Given the description of an element on the screen output the (x, y) to click on. 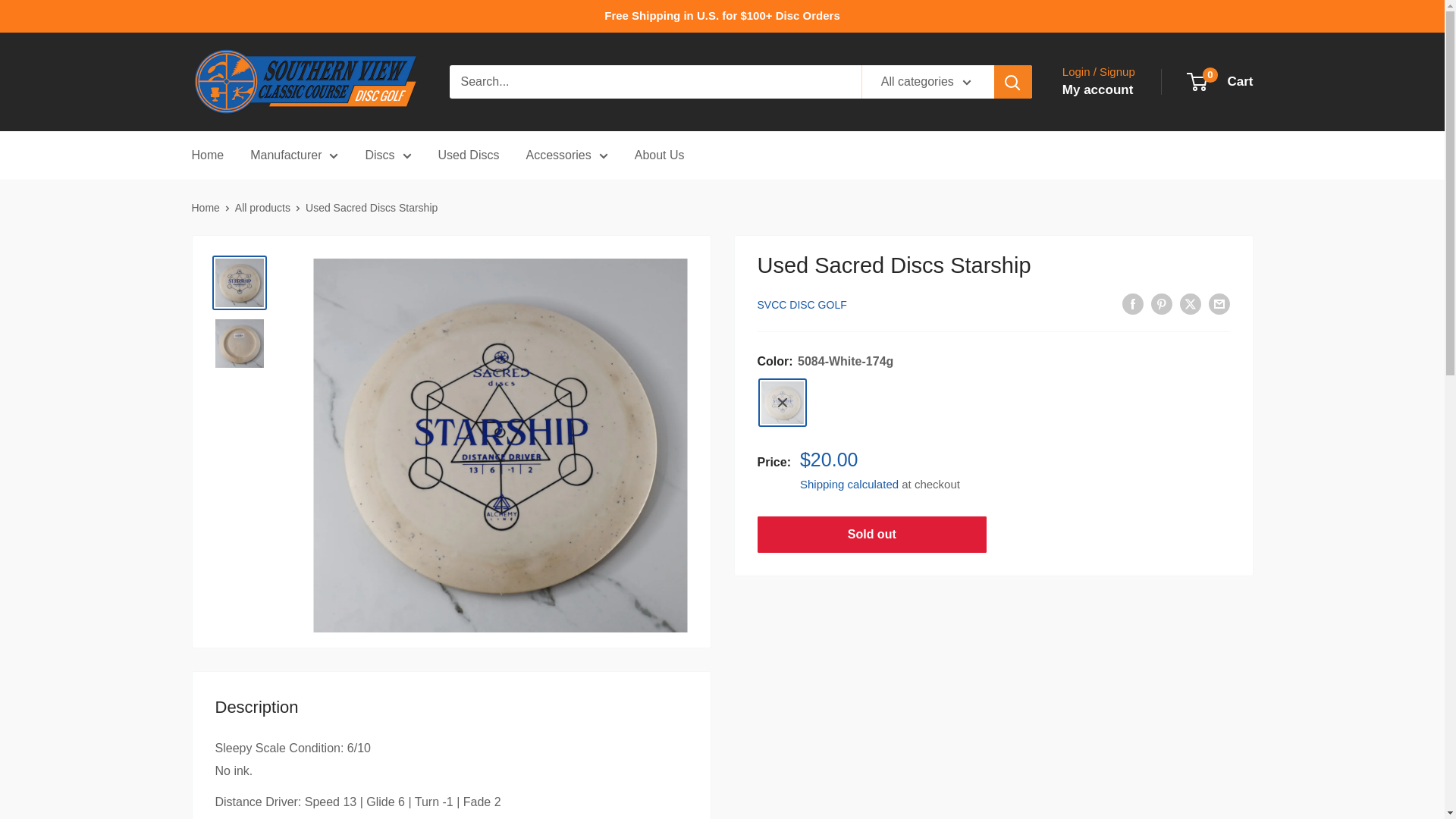
5084-White-174g (782, 402)
